Given the description of an element on the screen output the (x, y) to click on. 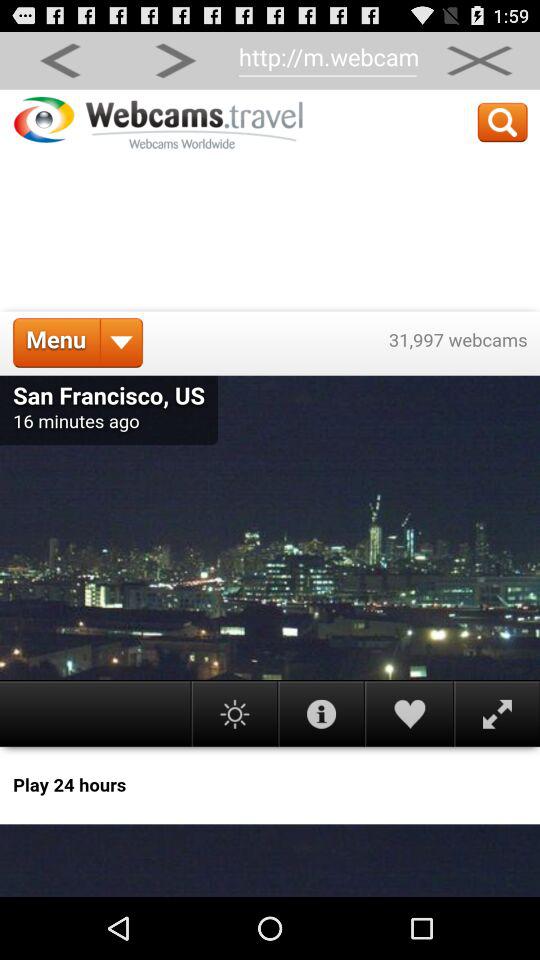
open page (270, 493)
